Given the description of an element on the screen output the (x, y) to click on. 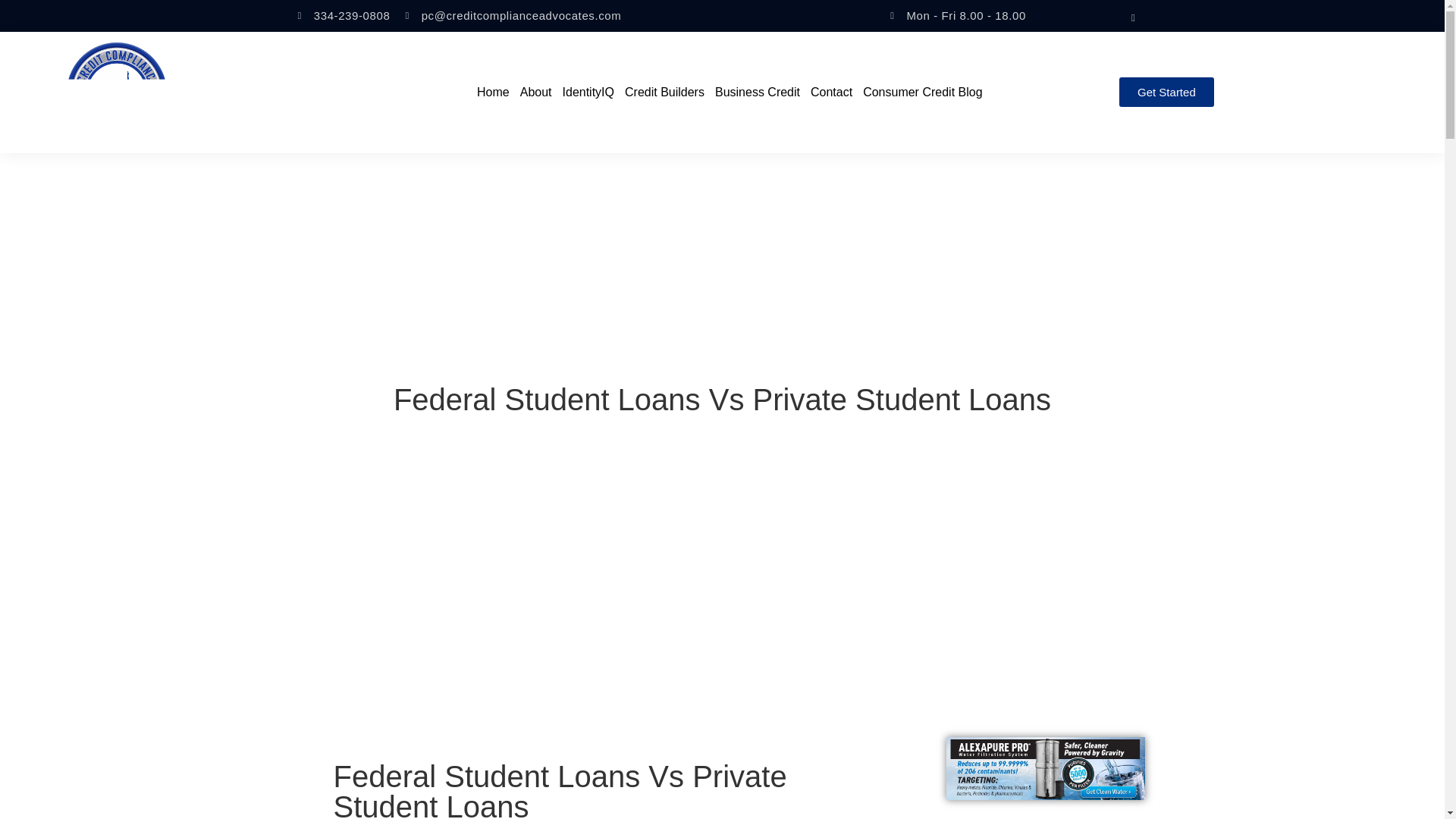
Get Started (1166, 91)
Business Credit (757, 91)
Consumer Credit Blog (922, 91)
IdentityIQ (588, 91)
Credit Builders (665, 91)
